Given the description of an element on the screen output the (x, y) to click on. 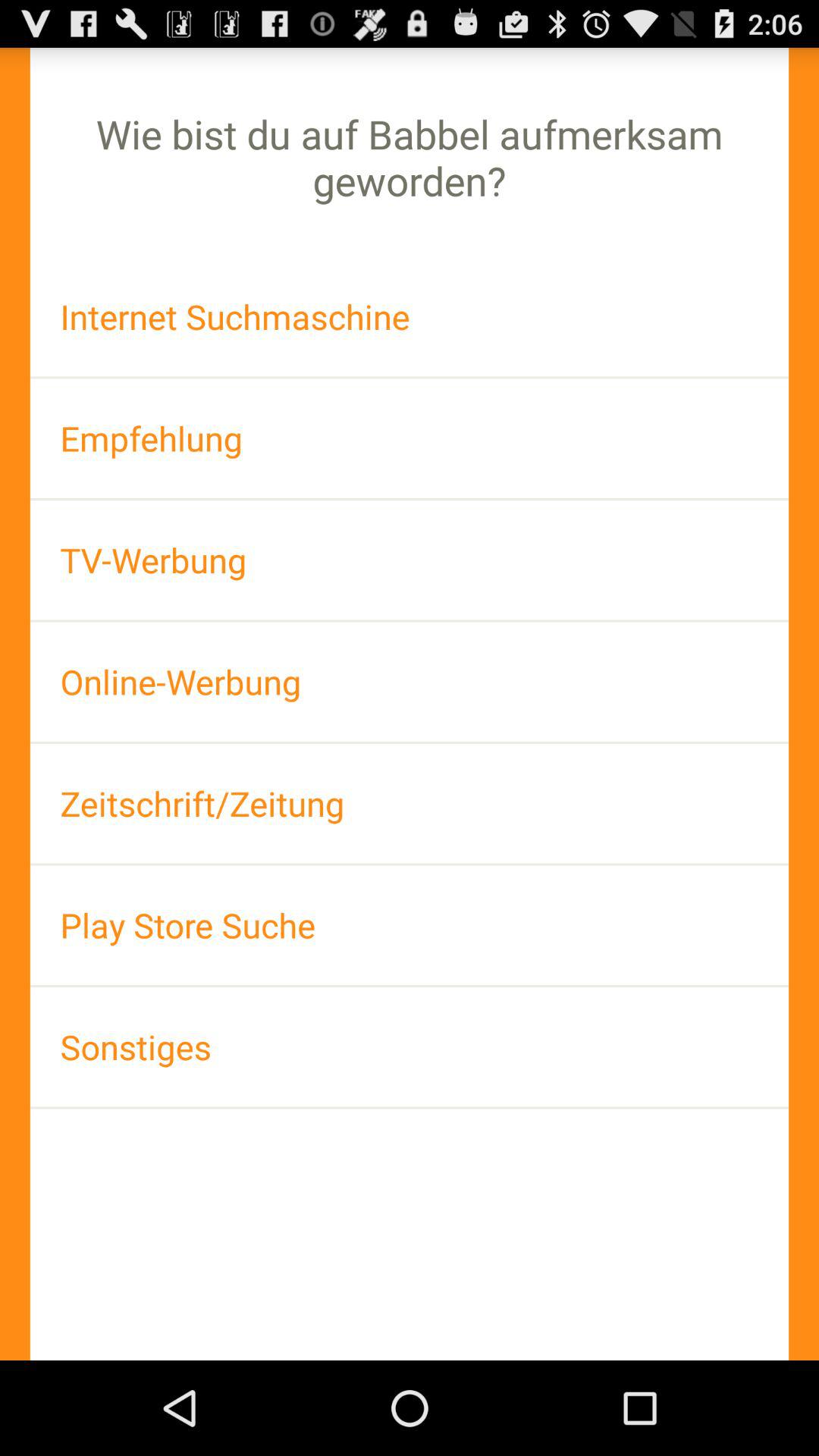
swipe to the sonstiges app (409, 1046)
